Given the description of an element on the screen output the (x, y) to click on. 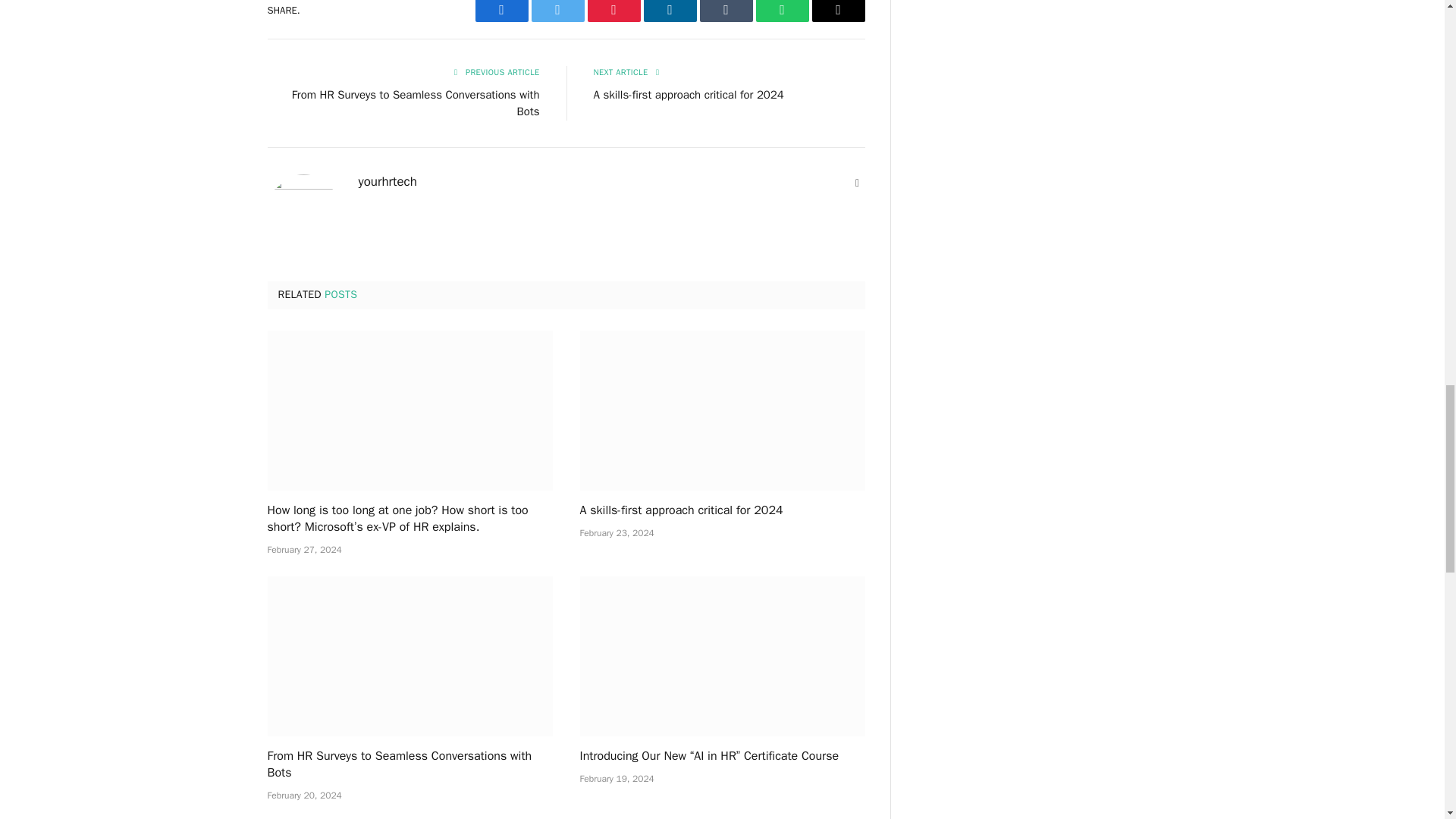
Twitter (557, 11)
Facebook (500, 11)
Pinterest (613, 11)
